Given the description of an element on the screen output the (x, y) to click on. 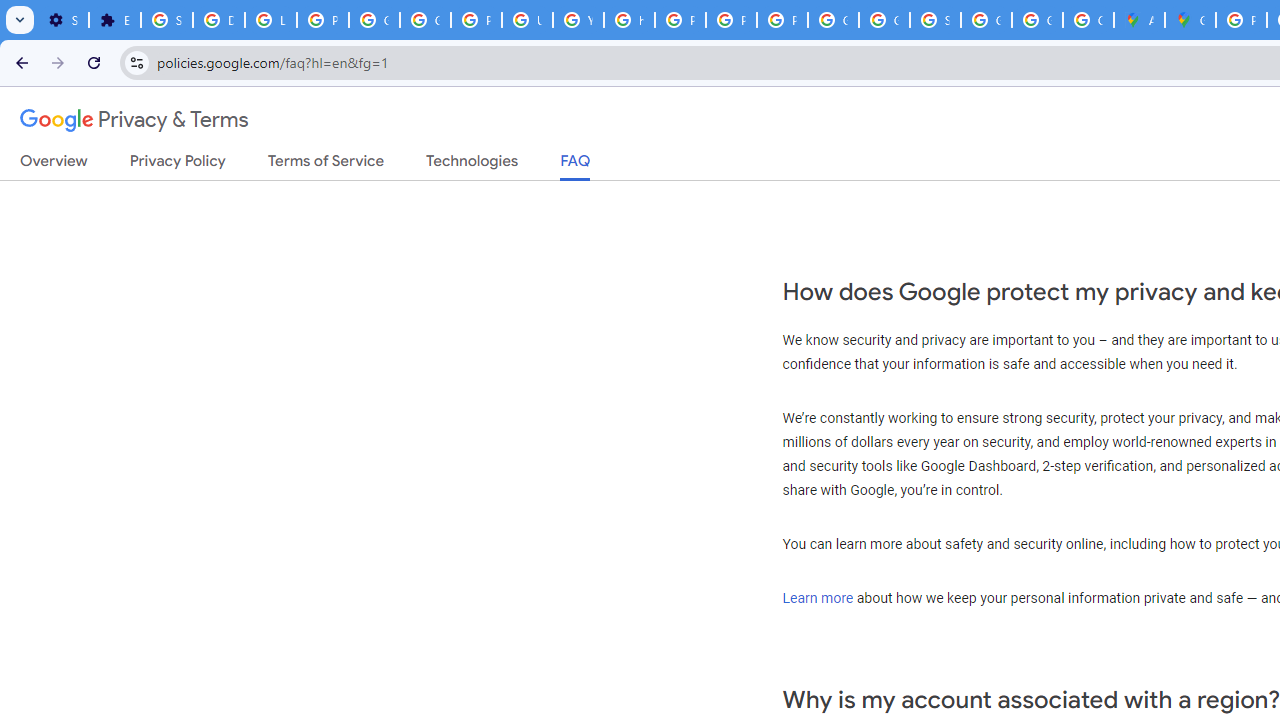
Google Account Help (374, 20)
Create your Google Account (1087, 20)
